Given the description of an element on the screen output the (x, y) to click on. 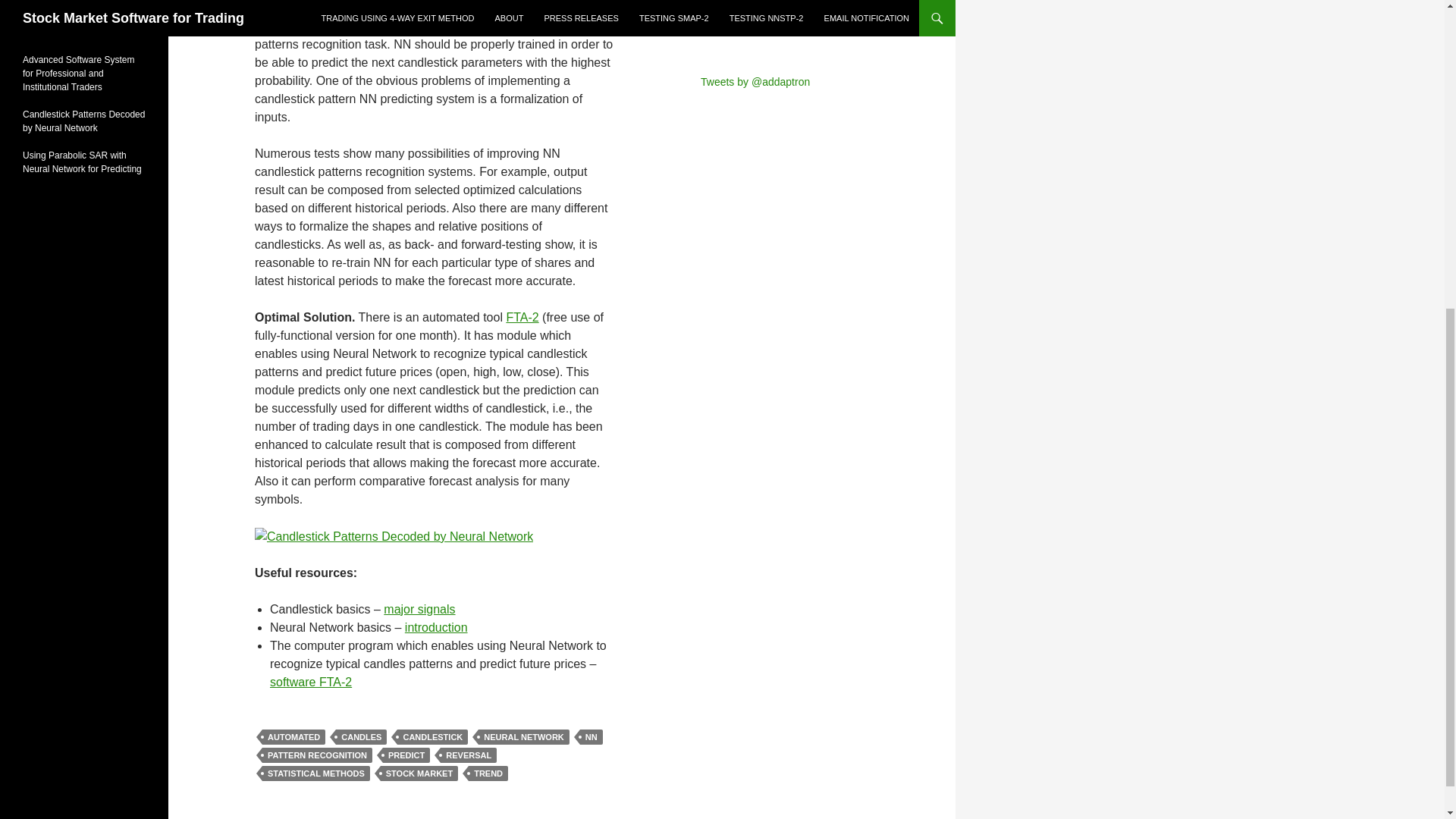
STATISTICAL METHODS (315, 773)
major signals (419, 608)
introduction (435, 626)
STOCK MARKET (419, 773)
REVERSAL (468, 754)
PATTERN RECOGNITION (317, 754)
software FTA-2 (310, 681)
CANDLESTICK (432, 736)
Advertisement (761, 18)
Candlestick Patterns Decoded by Neural Network (393, 536)
